Given the description of an element on the screen output the (x, y) to click on. 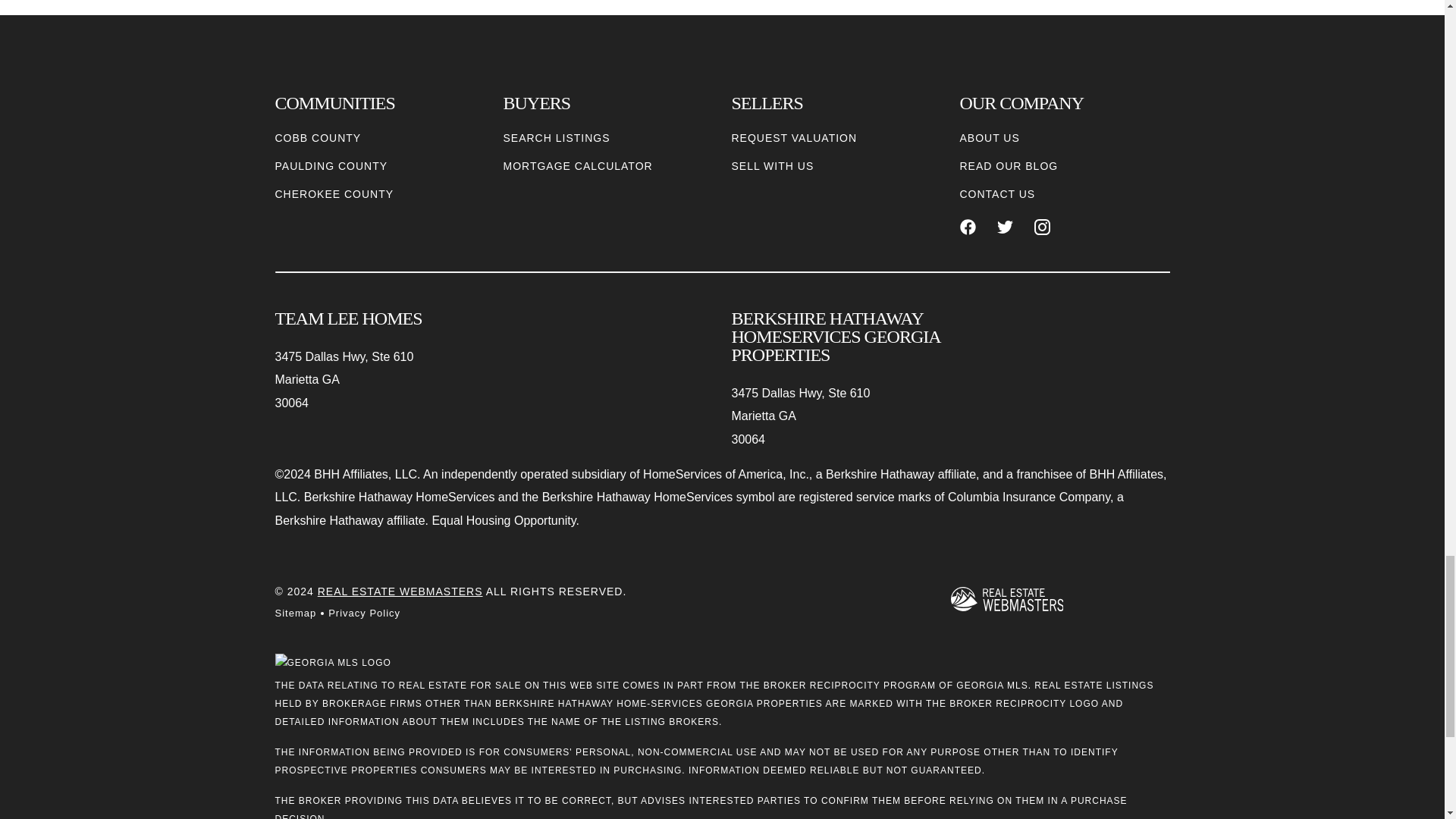
TWITTER (1005, 227)
FACEBOOK (967, 227)
